Given the description of an element on the screen output the (x, y) to click on. 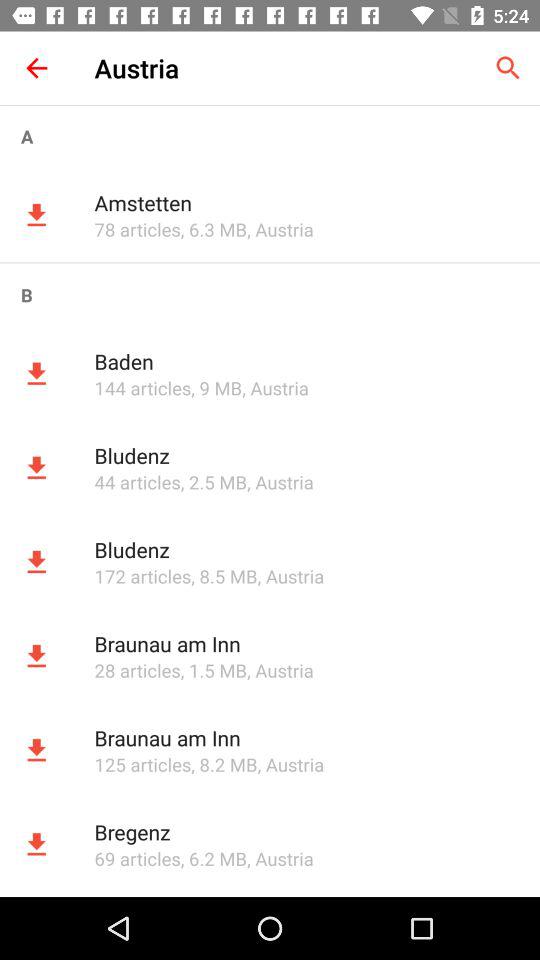
tap item to the left of , 6.3 mb icon (137, 229)
